Given the description of an element on the screen output the (x, y) to click on. 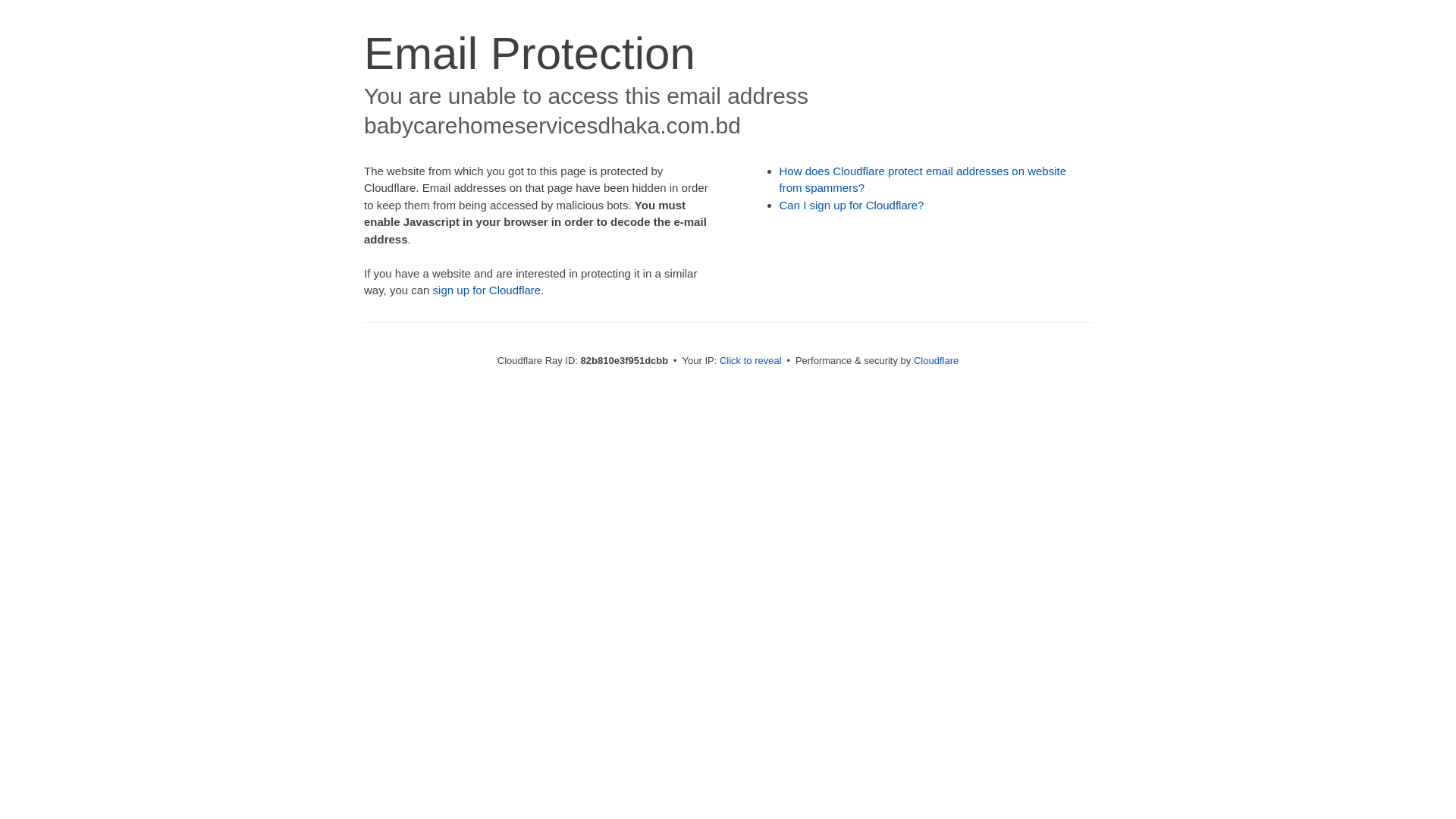
Can I sign up for Cloudflare? Element type: text (851, 204)
sign up for Cloudflare Element type: text (487, 289)
Click to reveal Element type: text (750, 360)
Cloudflare Element type: text (935, 360)
